Given the description of an element on the screen output the (x, y) to click on. 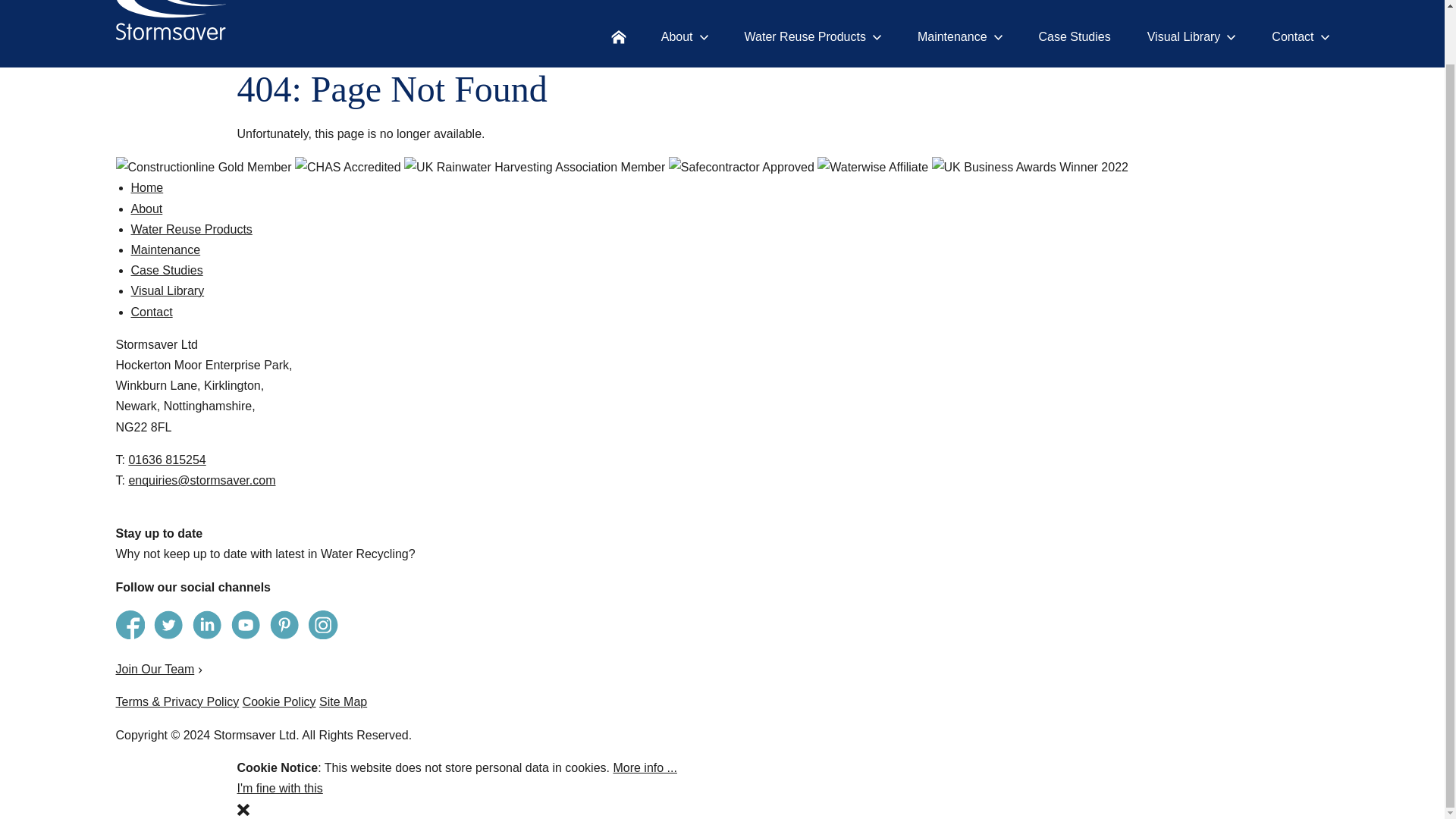
Dismiss - I'm fine with this (241, 808)
Water Reuse Products (812, 36)
Maintenance (960, 36)
